Given the description of an element on the screen output the (x, y) to click on. 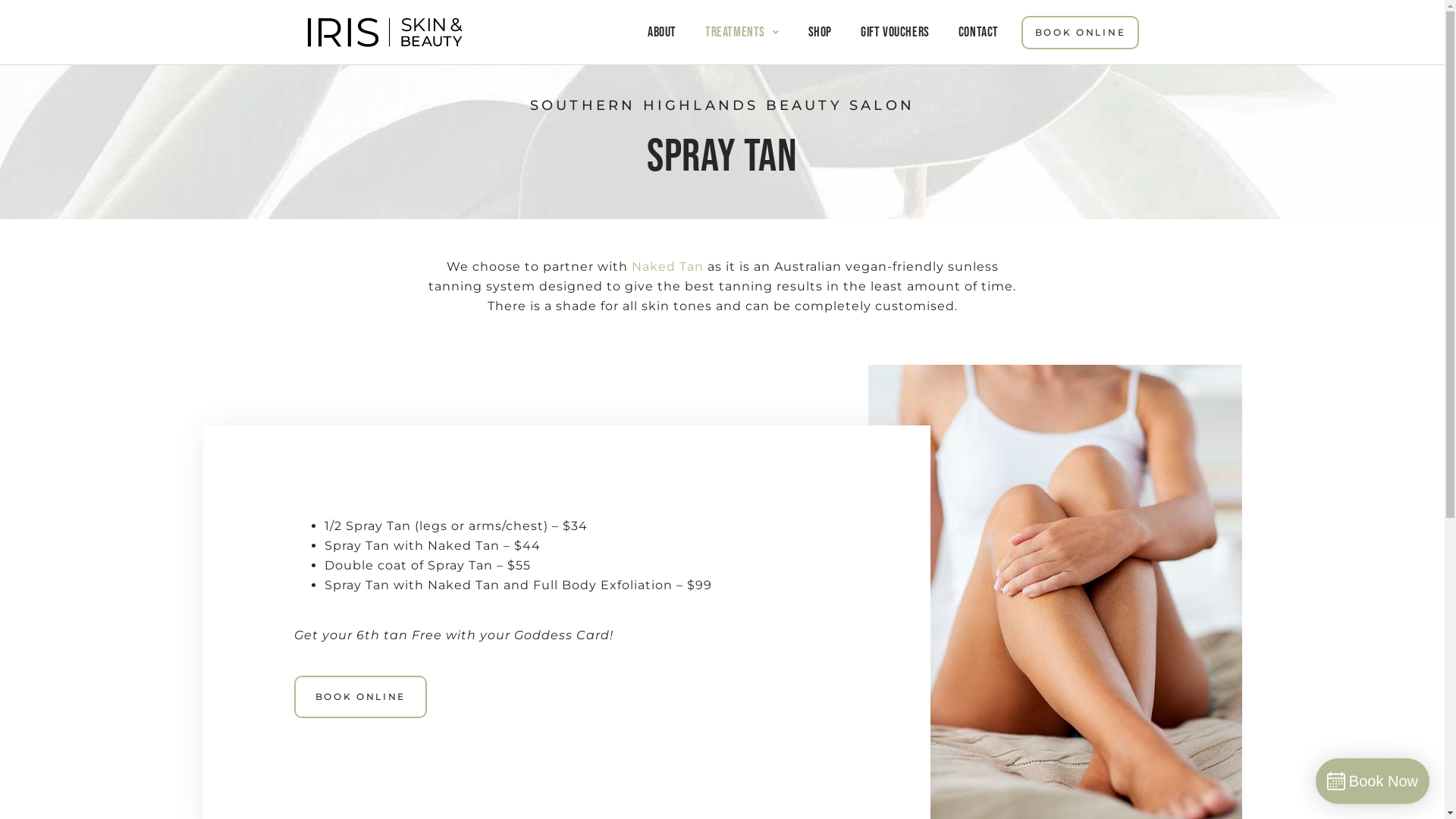
CONTACT Element type: text (963, 32)
BOOK ONLINE Element type: text (360, 696)
TREATMENTS Element type: text (727, 32)
BOOK ONLINE Element type: text (1080, 32)
Naked Tan Element type: text (666, 266)
SHOP Element type: text (805, 32)
GIFT VOUCHERS Element type: text (880, 32)
Book Now Element type: text (1372, 780)
ABOUT Element type: text (647, 32)
